Given the description of an element on the screen output the (x, y) to click on. 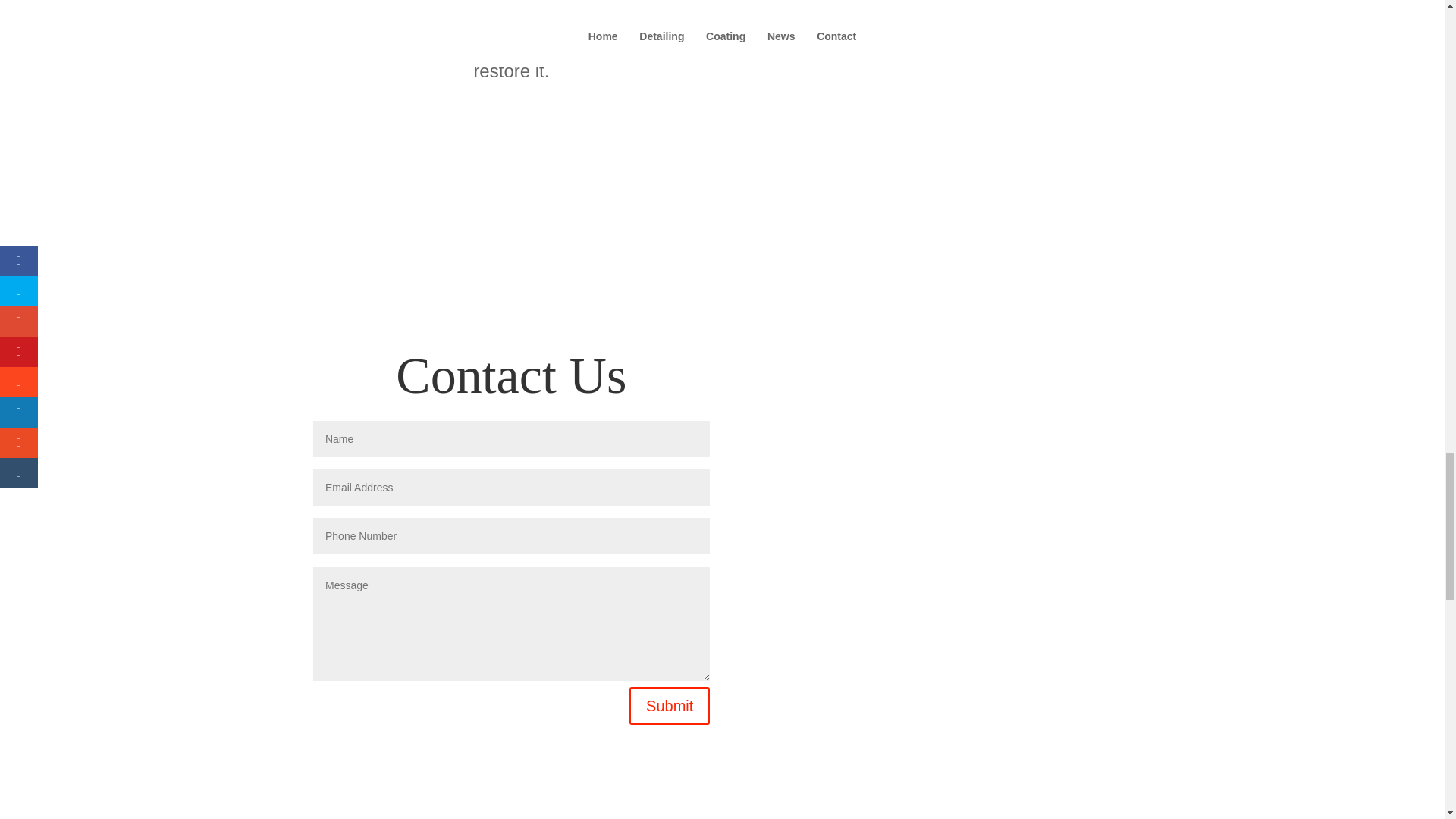
LEARN MORE ABOUT DETAILING (511, 177)
Submit (669, 705)
LEARN MORE ABOUT COATING (932, 177)
